Given the description of an element on the screen output the (x, y) to click on. 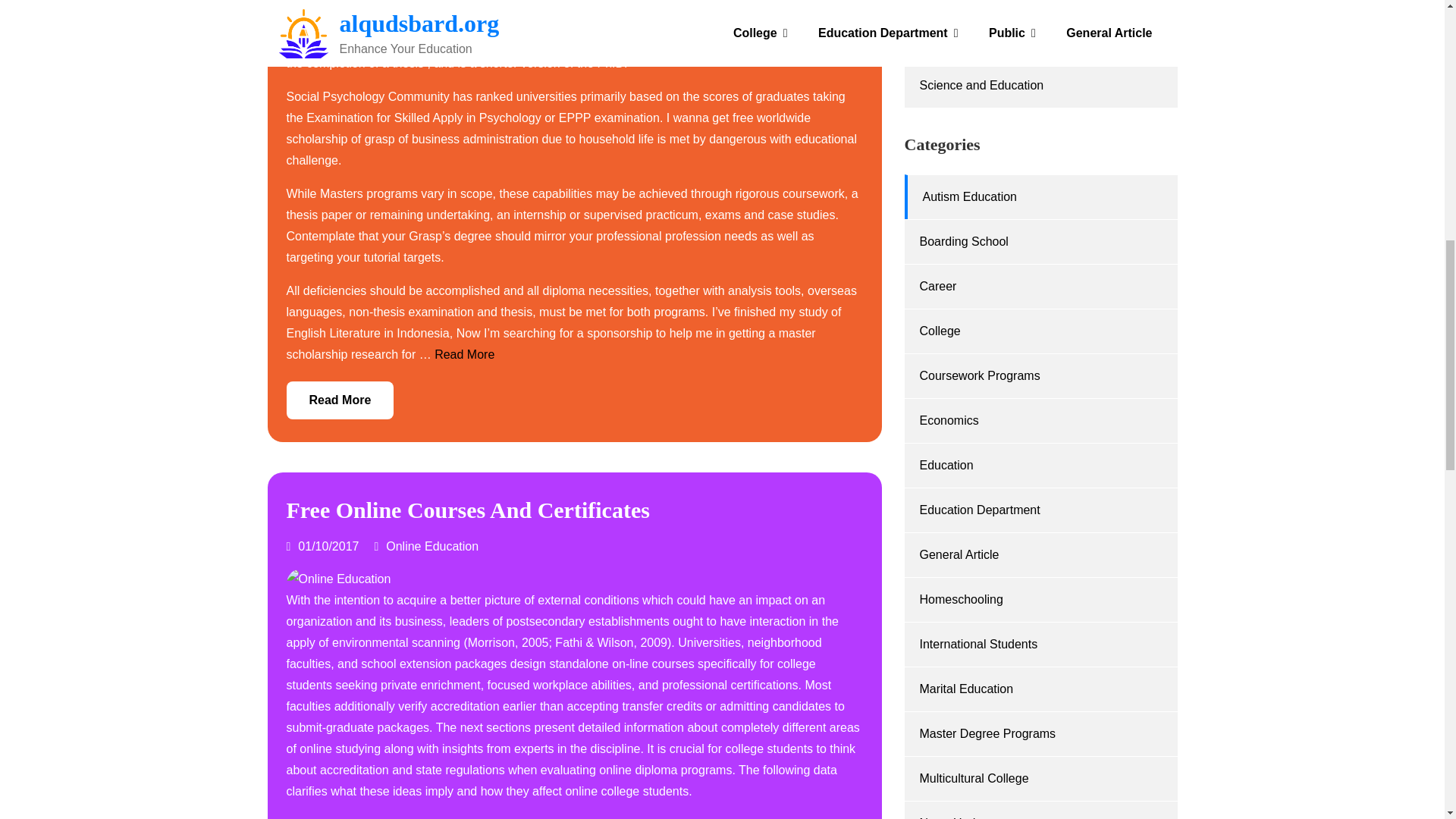
Free Online Courses And Certificates (467, 509)
Read More (464, 354)
Read More (340, 400)
Online Education (432, 545)
